Given the description of an element on the screen output the (x, y) to click on. 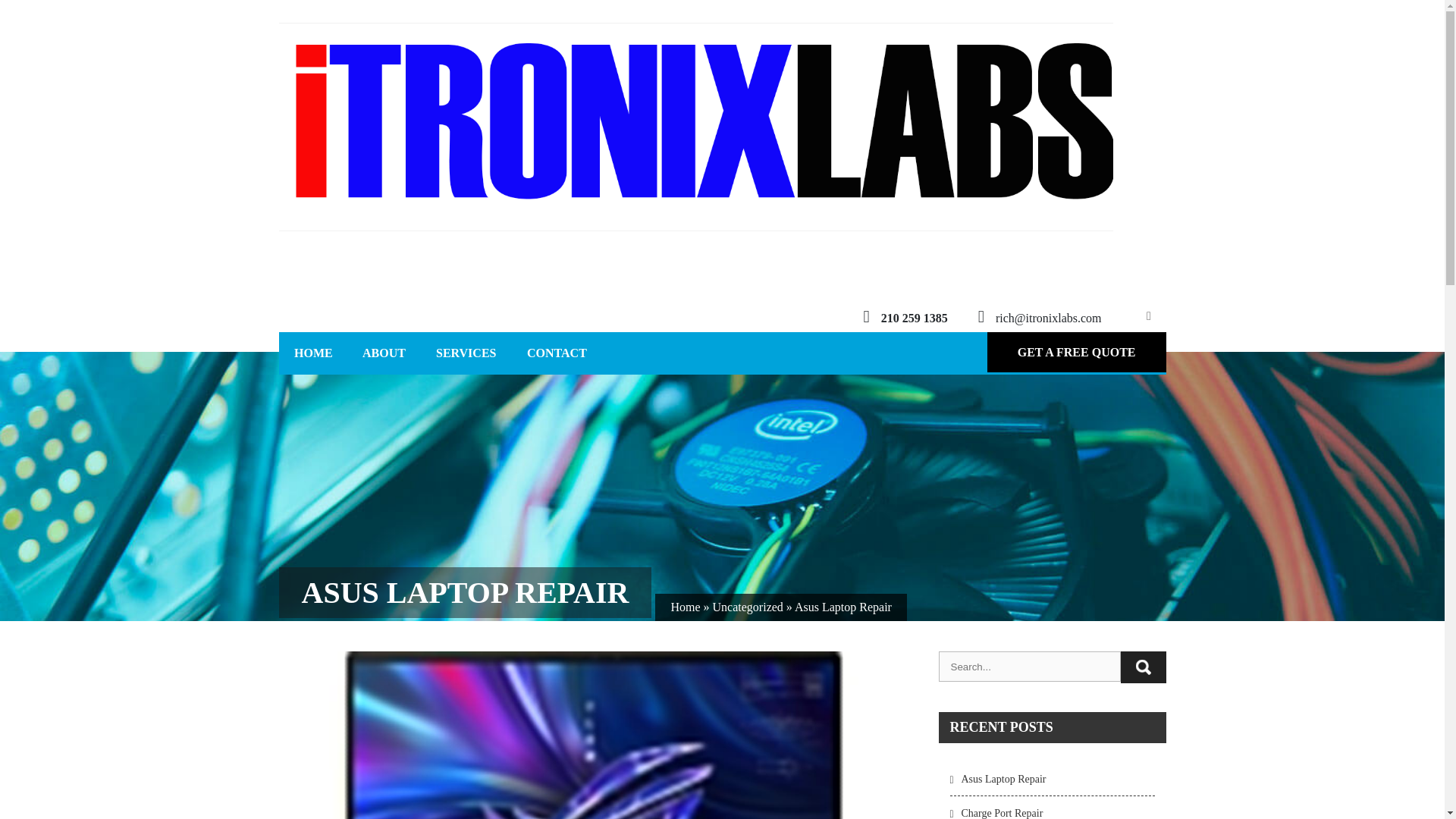
SERVICES (465, 353)
Search (1143, 667)
Home (684, 606)
HOME (313, 353)
Search (1143, 667)
ABOUT (383, 353)
Charge Port Repair (995, 813)
Search (1143, 667)
Uncategorized (748, 606)
GET A FREE QUOTE (1076, 352)
